Given the description of an element on the screen output the (x, y) to click on. 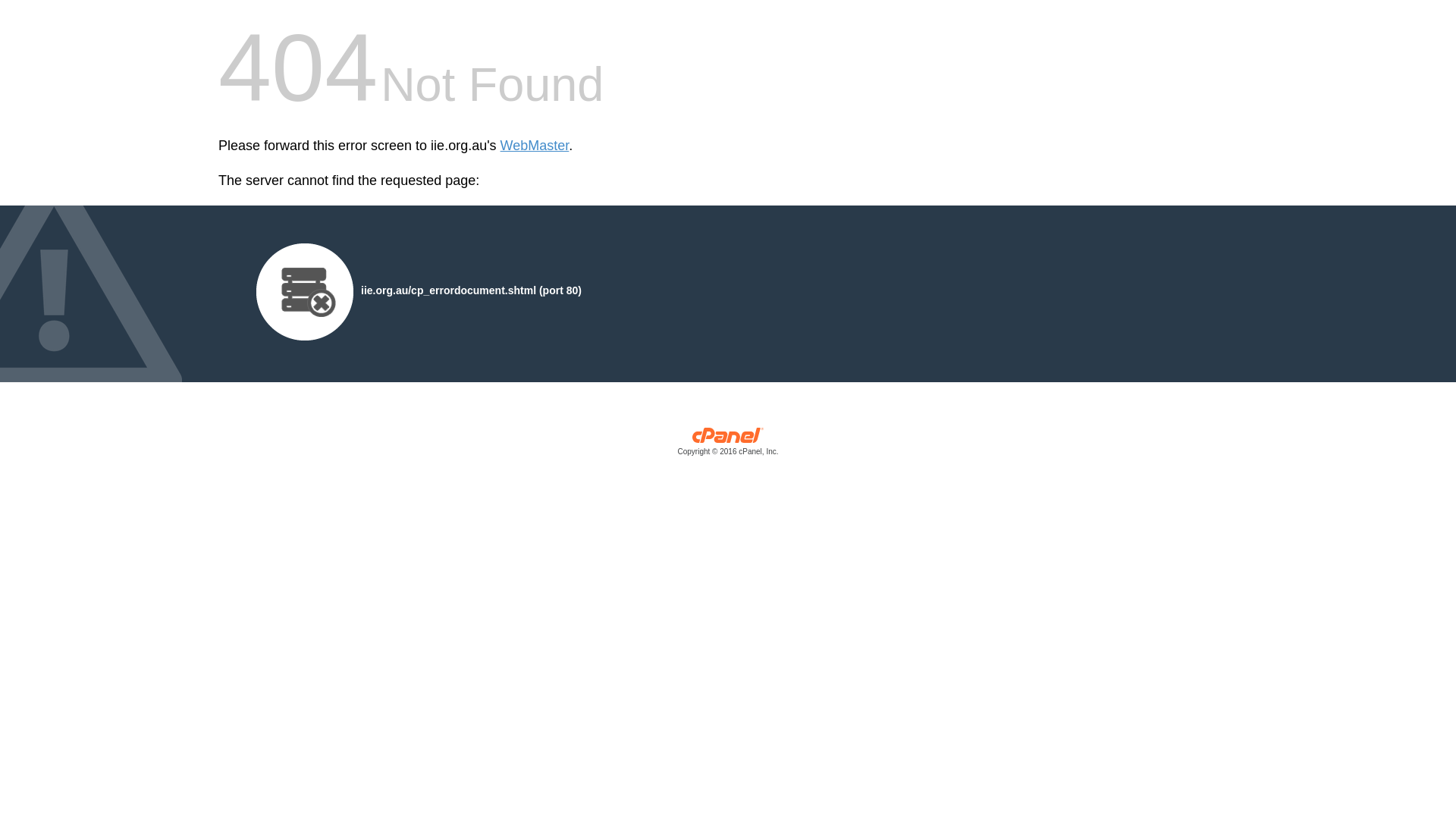
WebMaster Element type: text (534, 145)
